Given the description of an element on the screen output the (x, y) to click on. 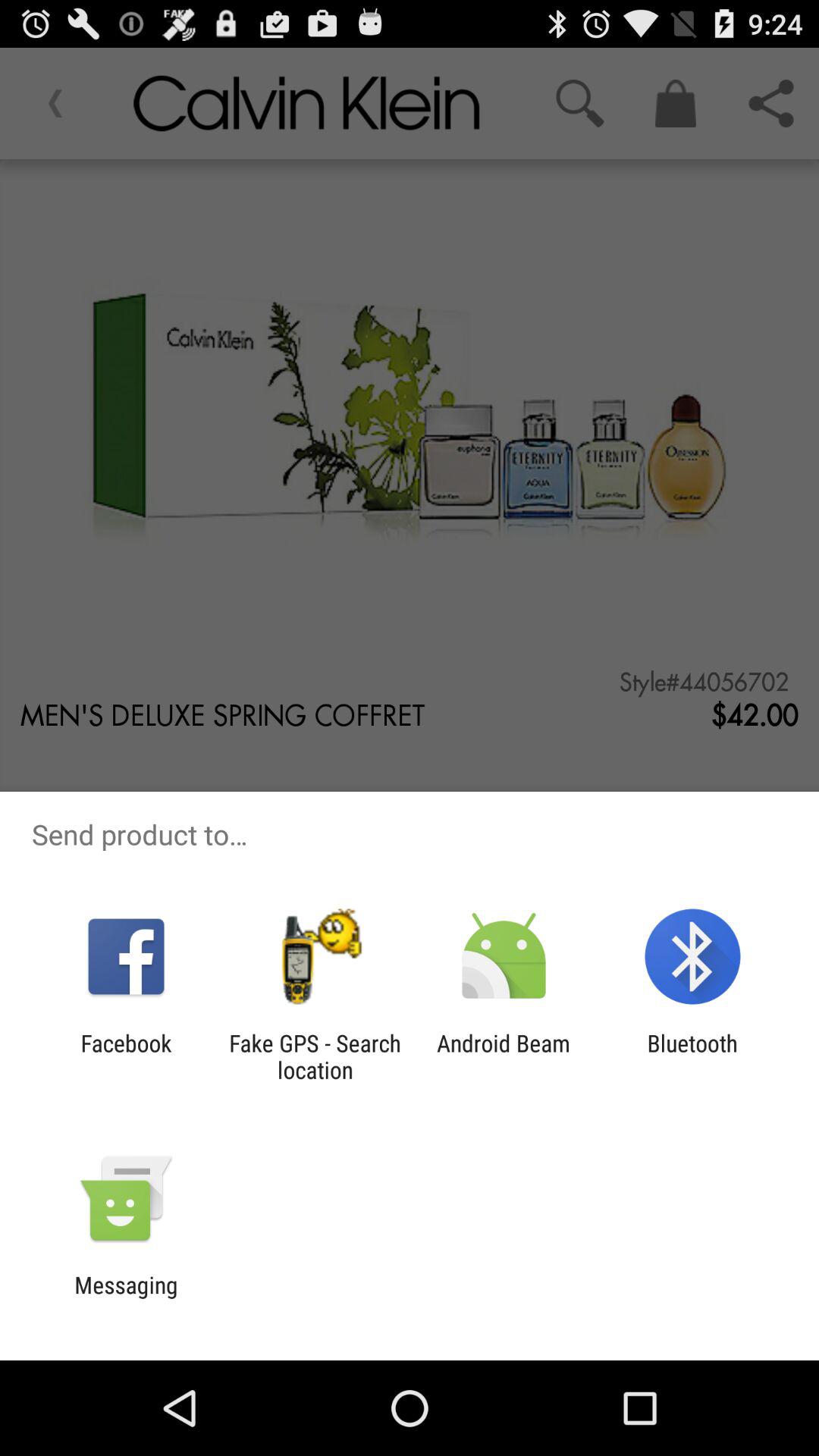
jump until the bluetooth item (692, 1056)
